Given the description of an element on the screen output the (x, y) to click on. 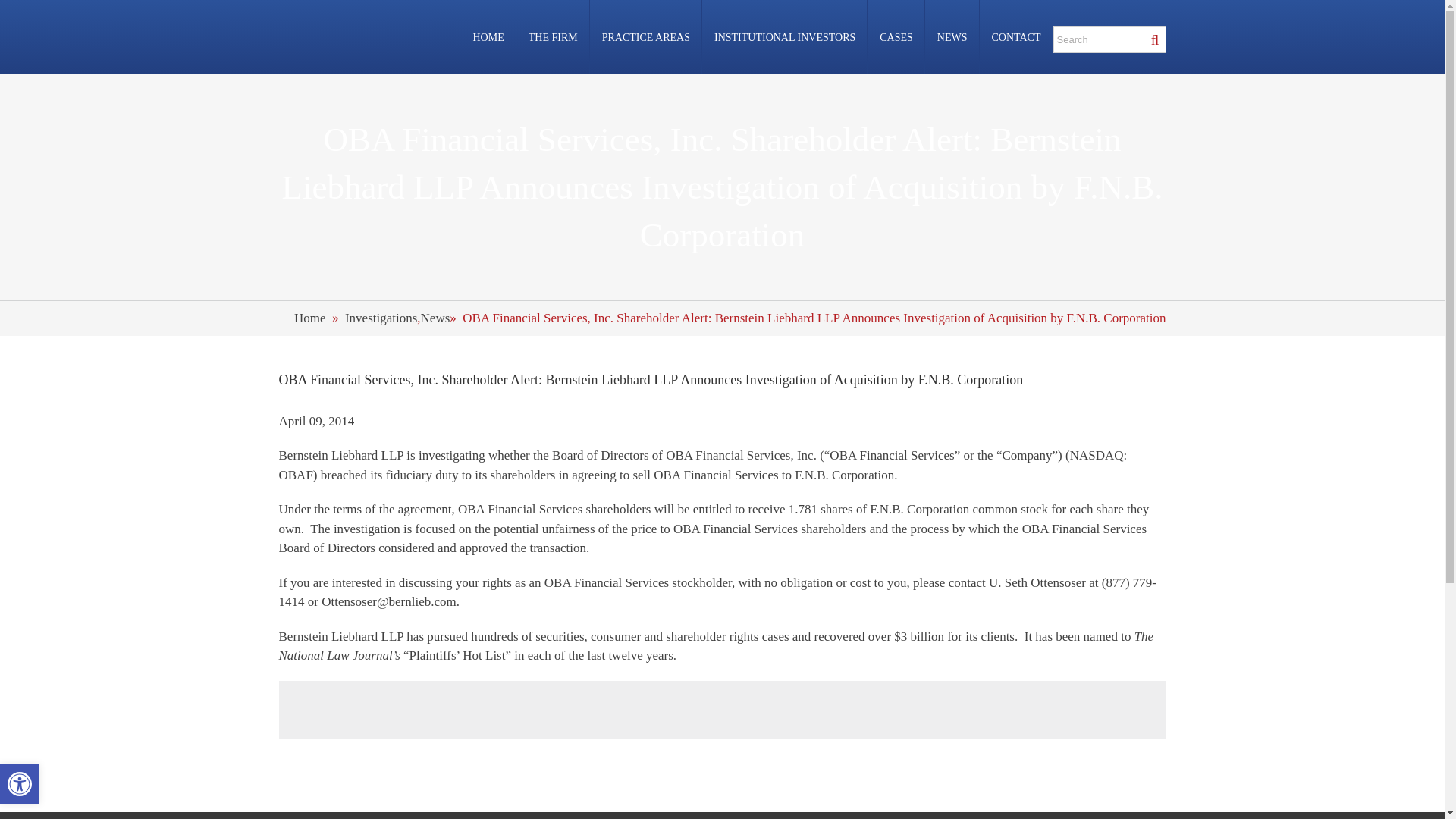
www.consumerinjurylawyers.com (615, 636)
PRACTICE AREAS (645, 36)
News (434, 318)
Accessibility Tools (19, 784)
U. Seth Ottensoser (1037, 581)
Investigations (380, 318)
consumer (615, 636)
Accessibility Tools (19, 783)
INSTITUTIONAL INVESTORS (784, 36)
Home (310, 318)
THE FIRM (552, 36)
CONTACT (1015, 36)
U. Seth Ottensoser (1037, 581)
